Given the description of an element on the screen output the (x, y) to click on. 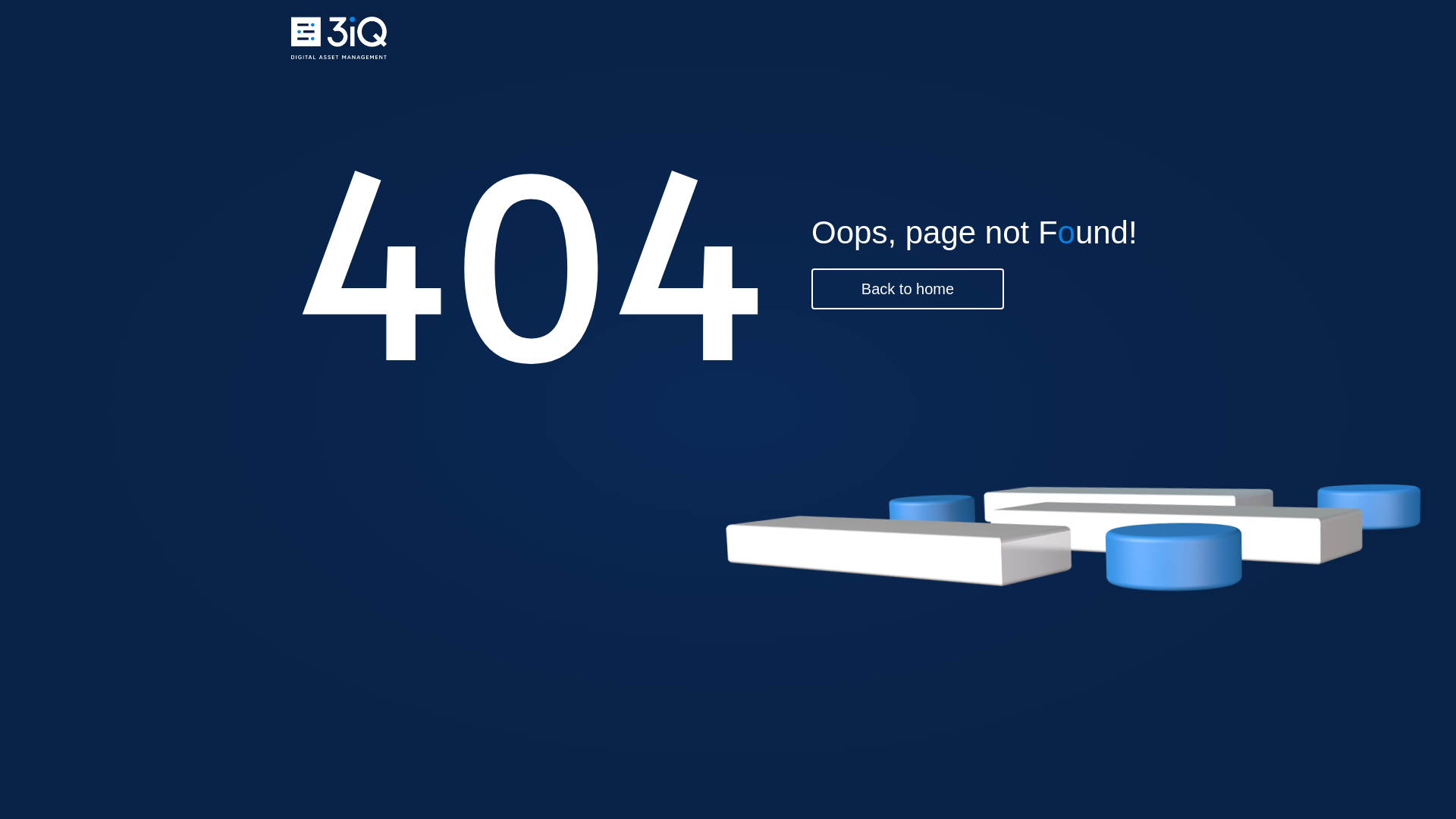
Back to home Element type: text (907, 288)
